Given the description of an element on the screen output the (x, y) to click on. 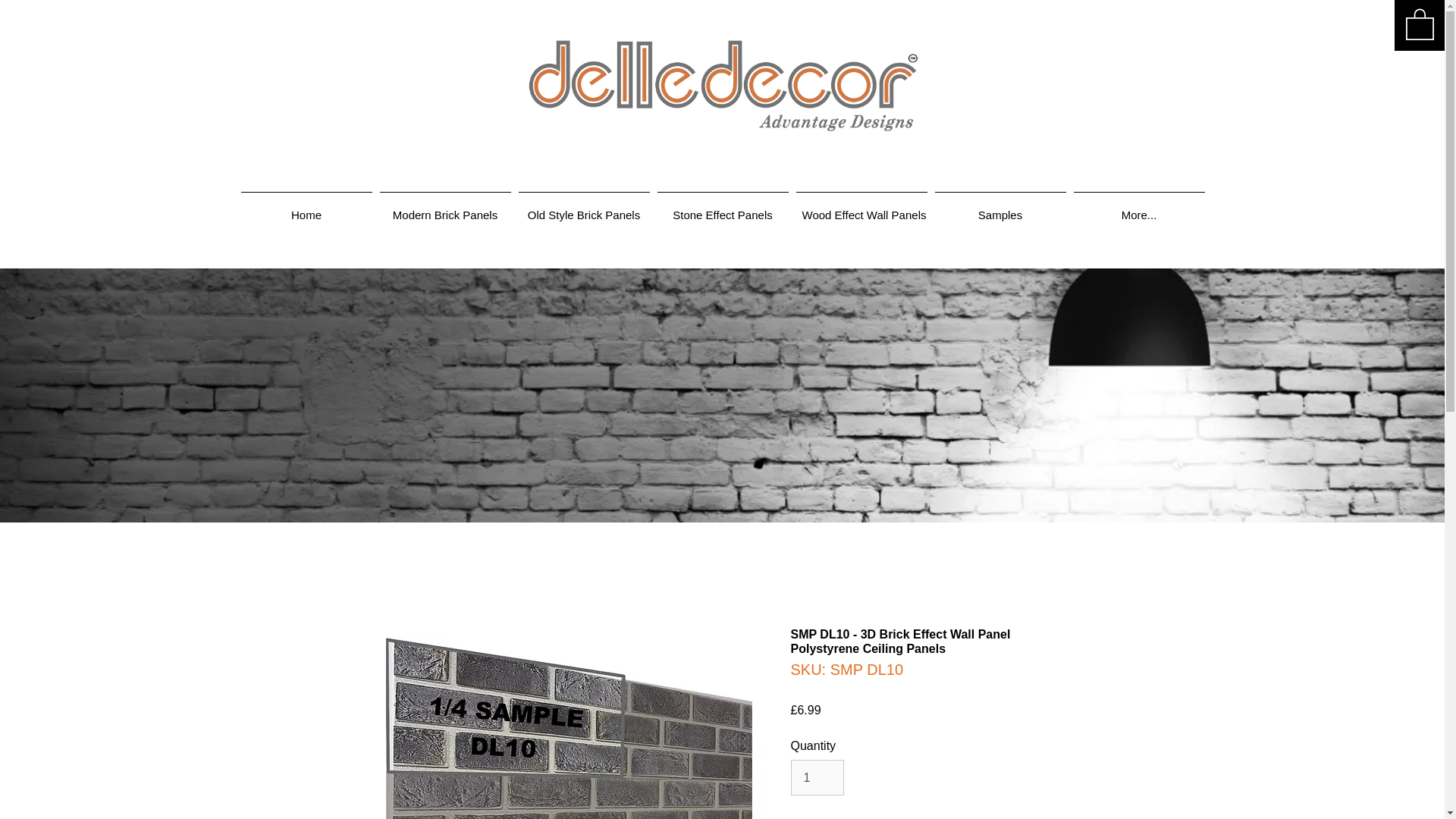
Stone Effect Panels (722, 208)
1 (817, 777)
Old Style Brick Panels (582, 208)
Samples (1000, 208)
Modern Brick Panels (445, 208)
Home (305, 208)
Wood Effect Wall Panels (861, 208)
